Given the description of an element on the screen output the (x, y) to click on. 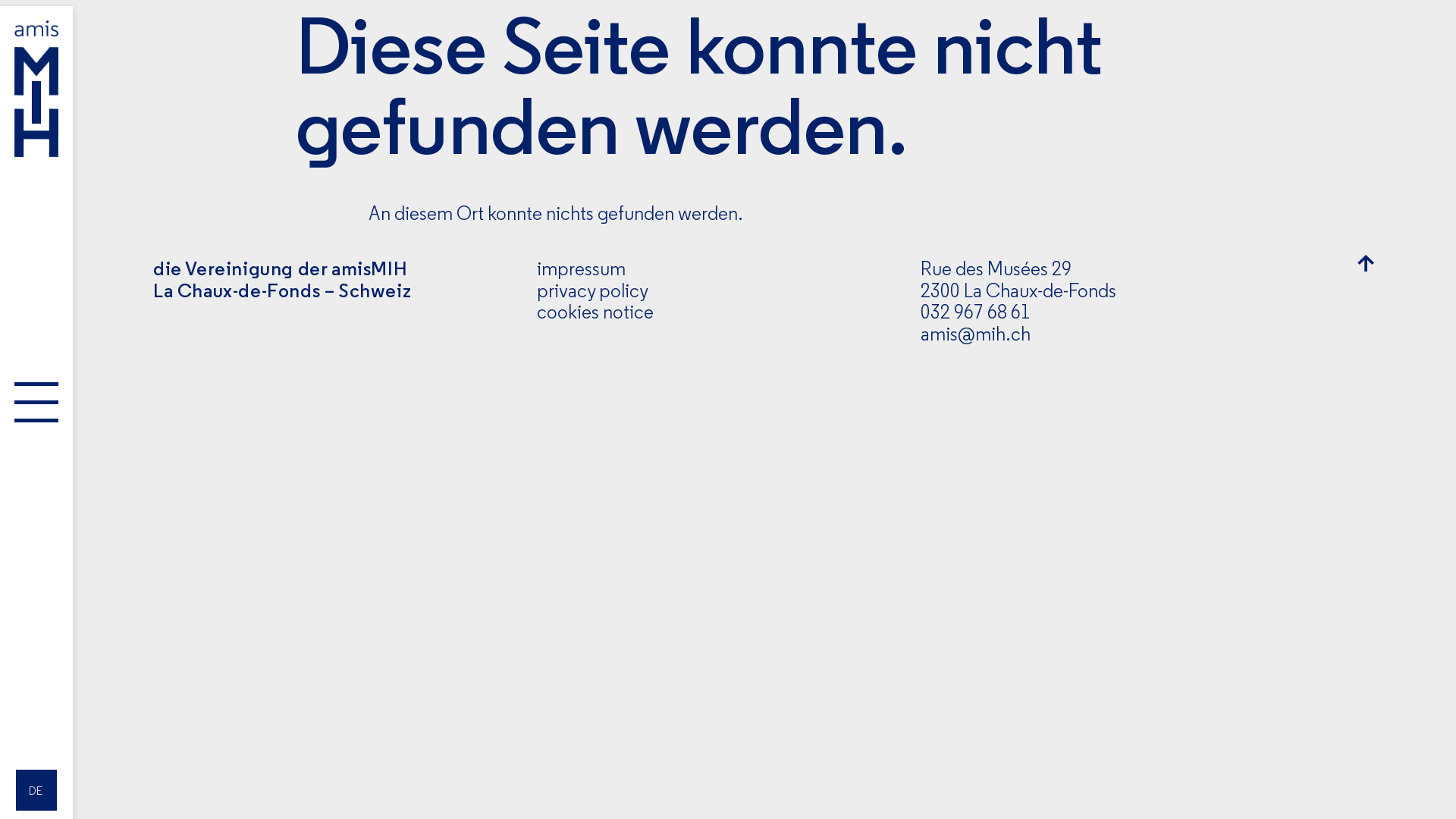
amis@mih.ch Element type: text (975, 333)
cookies notice Element type: text (594, 311)
DE Element type: text (35, 790)
impressum Element type: text (580, 268)
032 967 68 61 Element type: text (975, 311)
privacy policy Element type: text (592, 290)
